Given the description of an element on the screen output the (x, y) to click on. 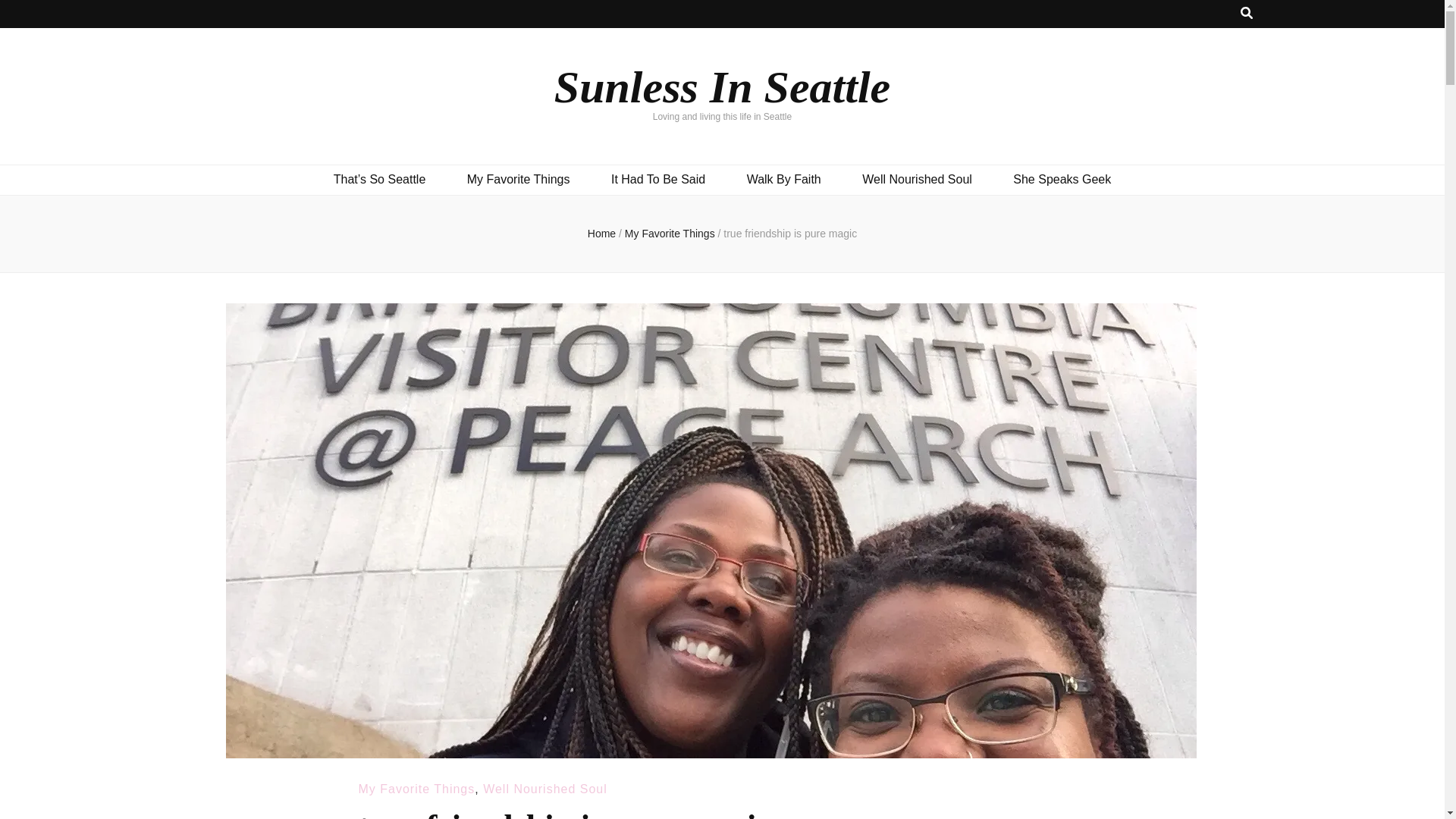
Well Nourished Soul (916, 179)
Well Nourished Soul (545, 788)
She Speaks Geek (1061, 179)
Walk By Faith (783, 179)
My Favorite Things (670, 233)
It Had To Be Said (657, 179)
My Favorite Things (416, 788)
Home (601, 233)
Sunless In Seattle (721, 87)
My Favorite Things (518, 179)
true friendship is pure magic (790, 233)
